Given the description of an element on the screen output the (x, y) to click on. 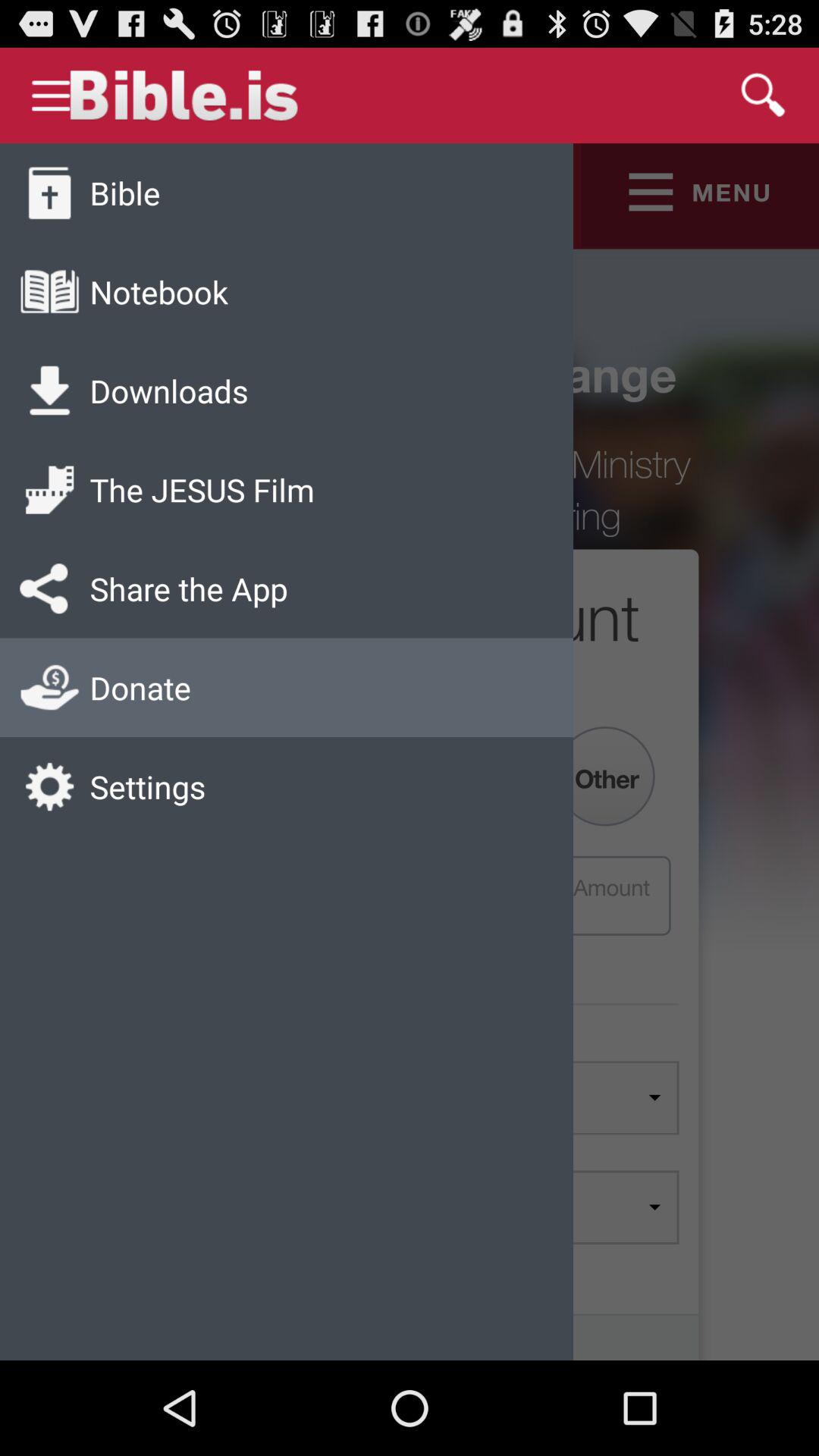
tap the downloads app (168, 390)
